Given the description of an element on the screen output the (x, y) to click on. 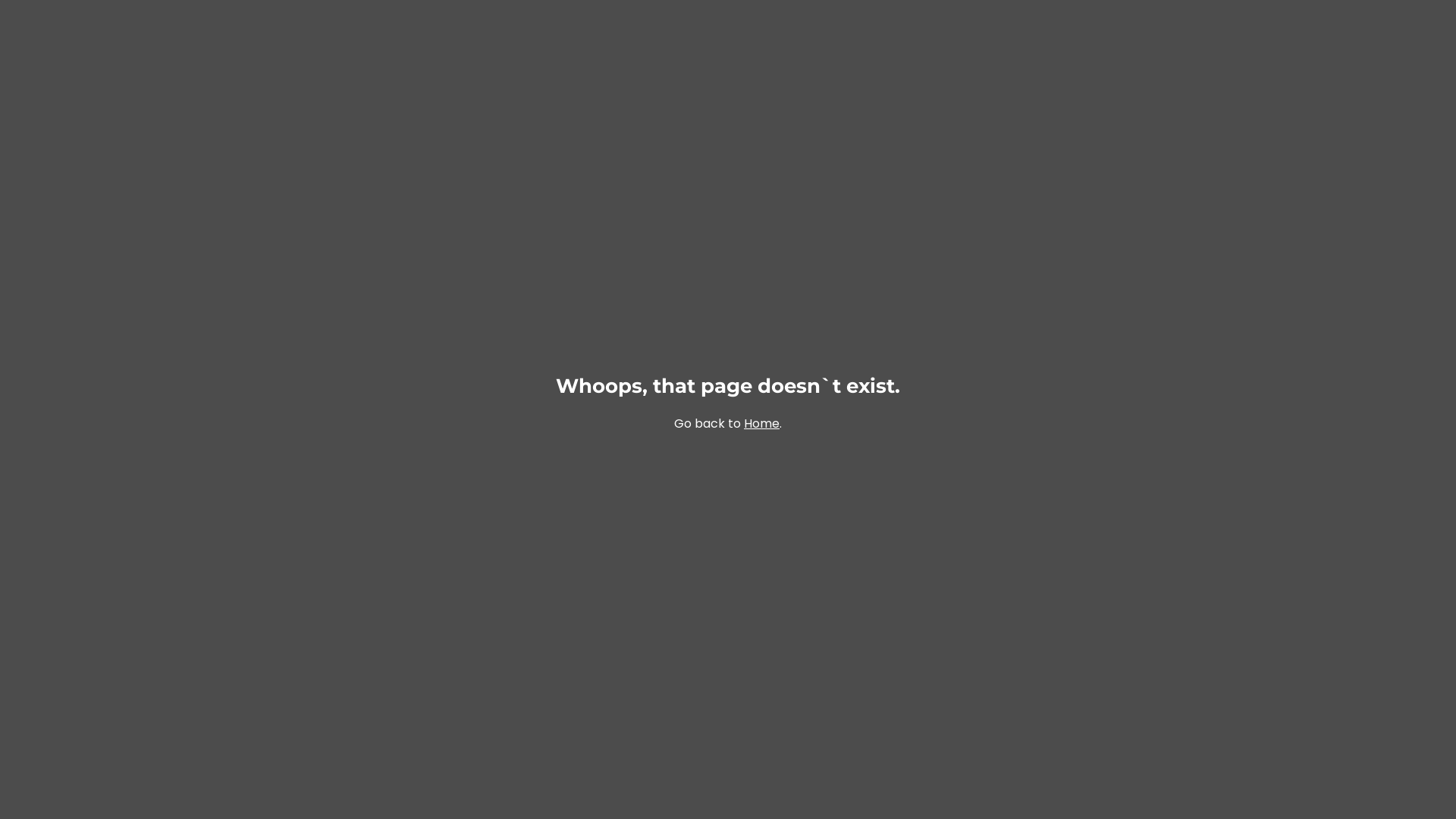
Home Element type: text (761, 423)
